Given the description of an element on the screen output the (x, y) to click on. 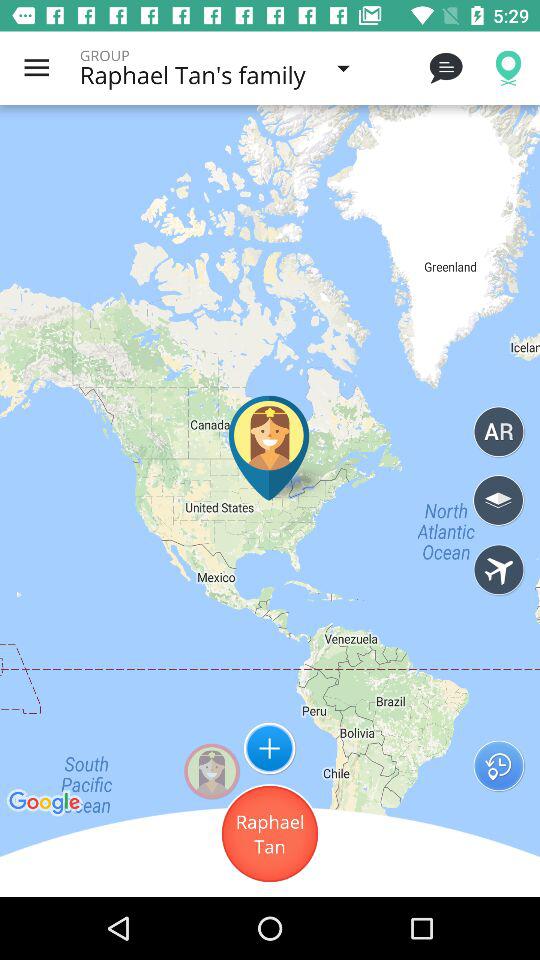
select icon next to the raphael tan s icon (444, 67)
